Given the description of an element on the screen output the (x, y) to click on. 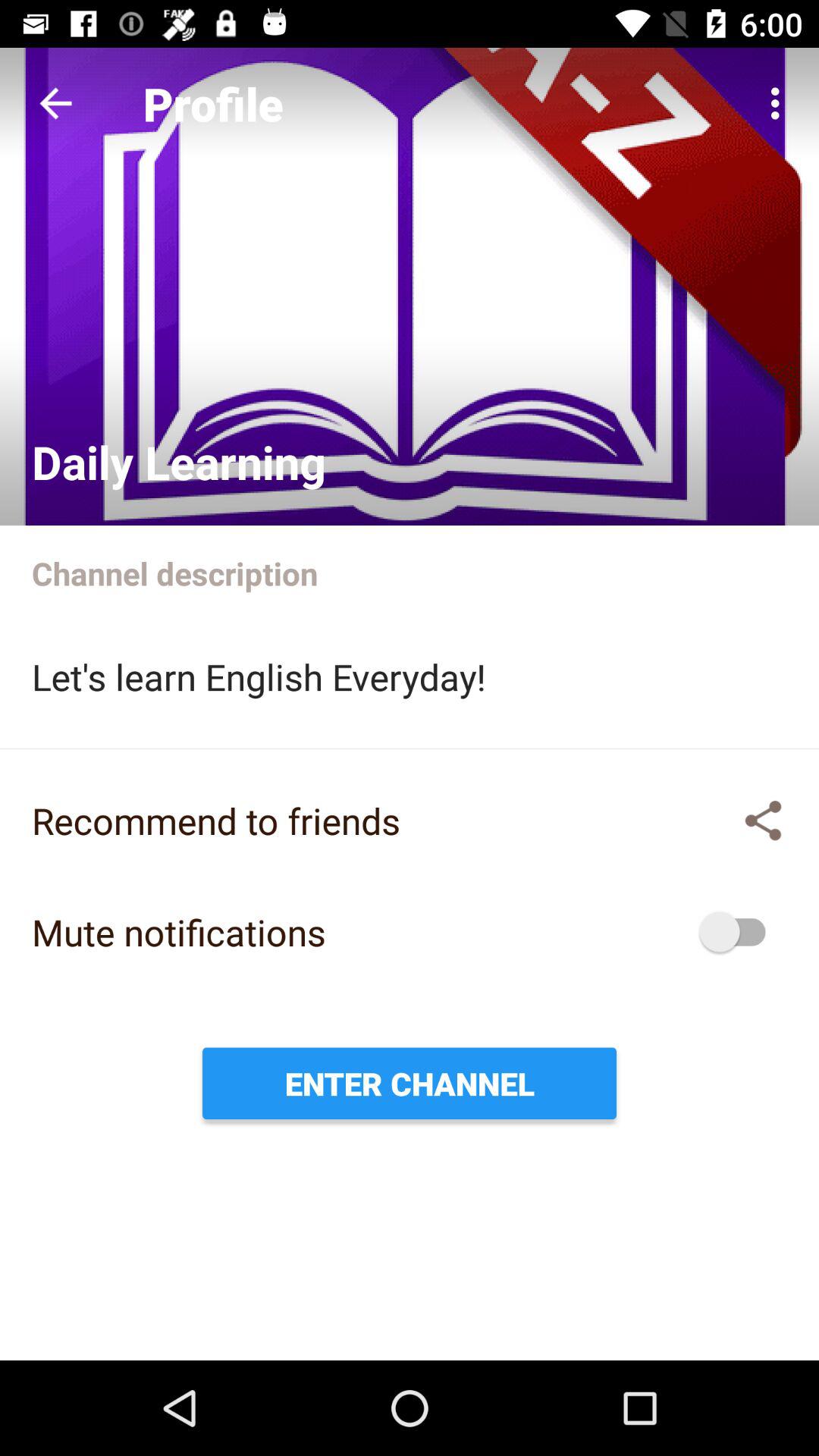
check profile (409, 286)
